Given the description of an element on the screen output the (x, y) to click on. 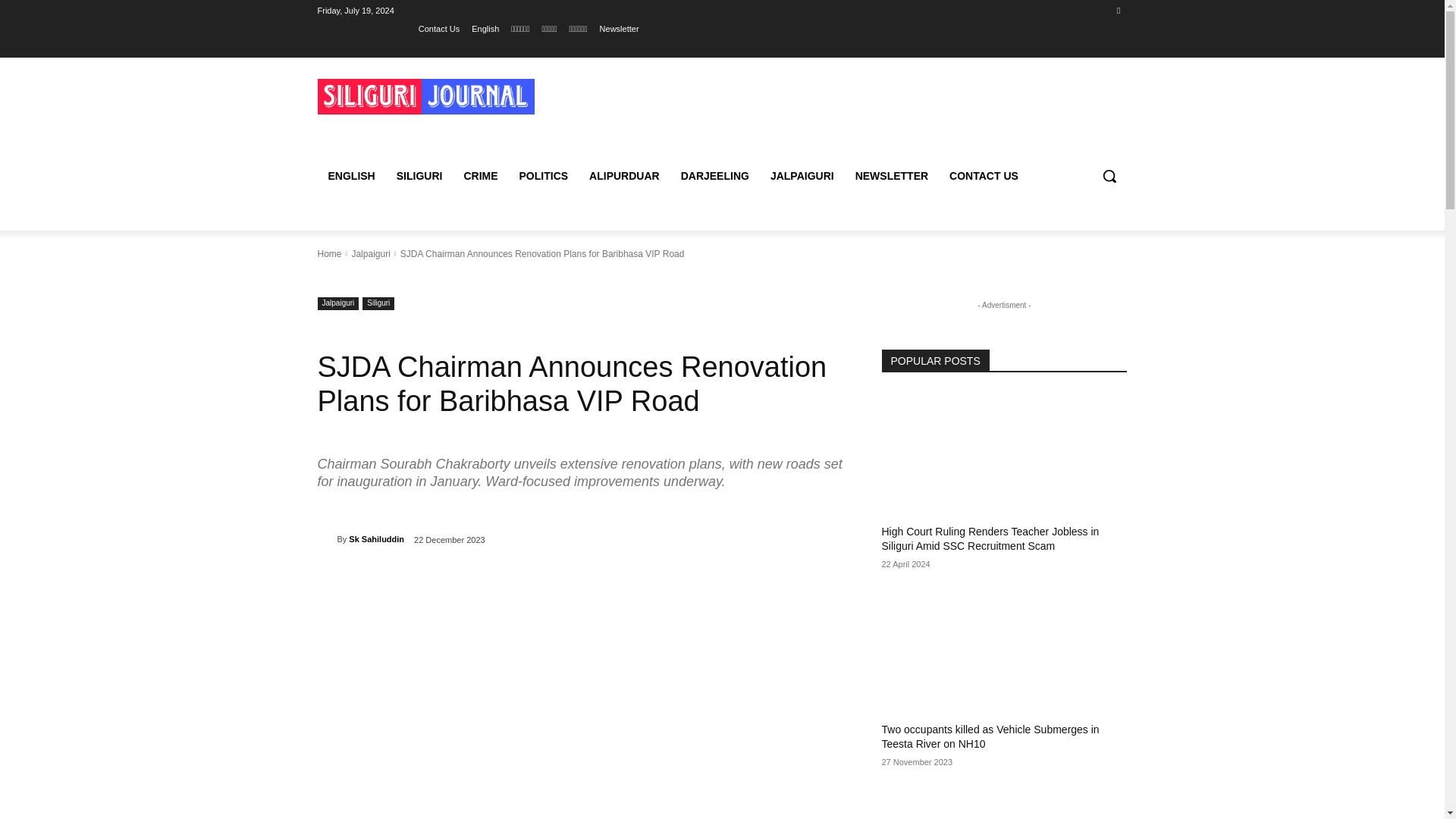
Sk Sahiluddin (376, 538)
Jalpaiguri (370, 253)
English (485, 28)
ENGLISH (351, 176)
CONTACT US (984, 176)
NEWSLETTER (891, 176)
Facebook (1117, 9)
Home (328, 253)
Jalpaiguri (337, 303)
Newsletter (619, 28)
CRIME (480, 176)
Siliguri (378, 303)
JALPAIGURI (802, 176)
SILIGURI (418, 176)
ALIPURDUAR (623, 176)
